Given the description of an element on the screen output the (x, y) to click on. 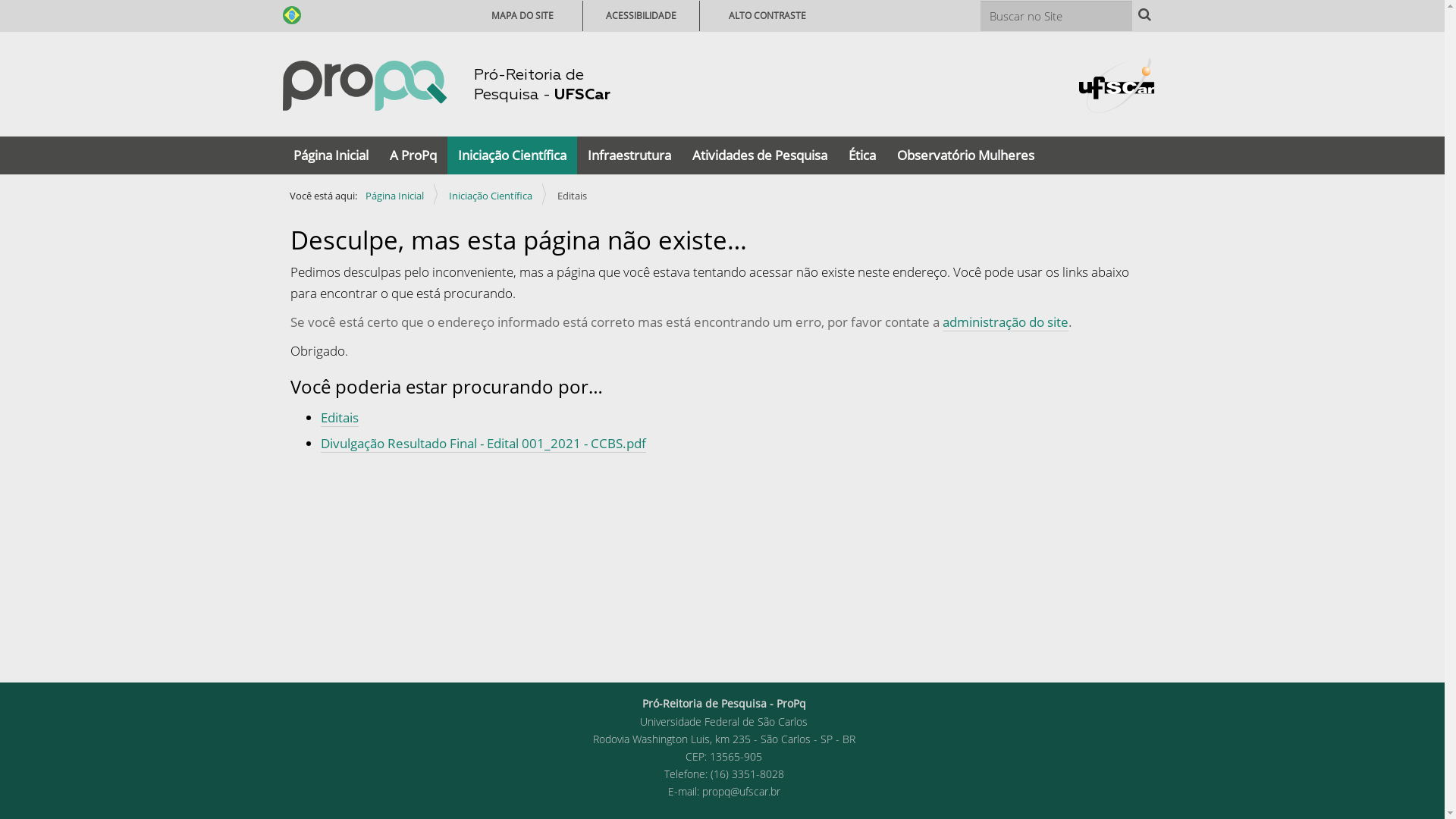
Infraestrutura Element type: text (628, 155)
Portal UFSCar Element type: hover (1116, 83)
Editais Element type: text (338, 417)
A ProPq Element type: text (413, 155)
ALTO CONTRASTE Element type: text (766, 15)
MAPA DO SITE Element type: text (522, 15)
ACESSIBILIDADE Element type: text (640, 15)
Atividades de Pesquisa Element type: text (758, 155)
Buscar no Site Element type: hover (1055, 15)
